Given the description of an element on the screen output the (x, y) to click on. 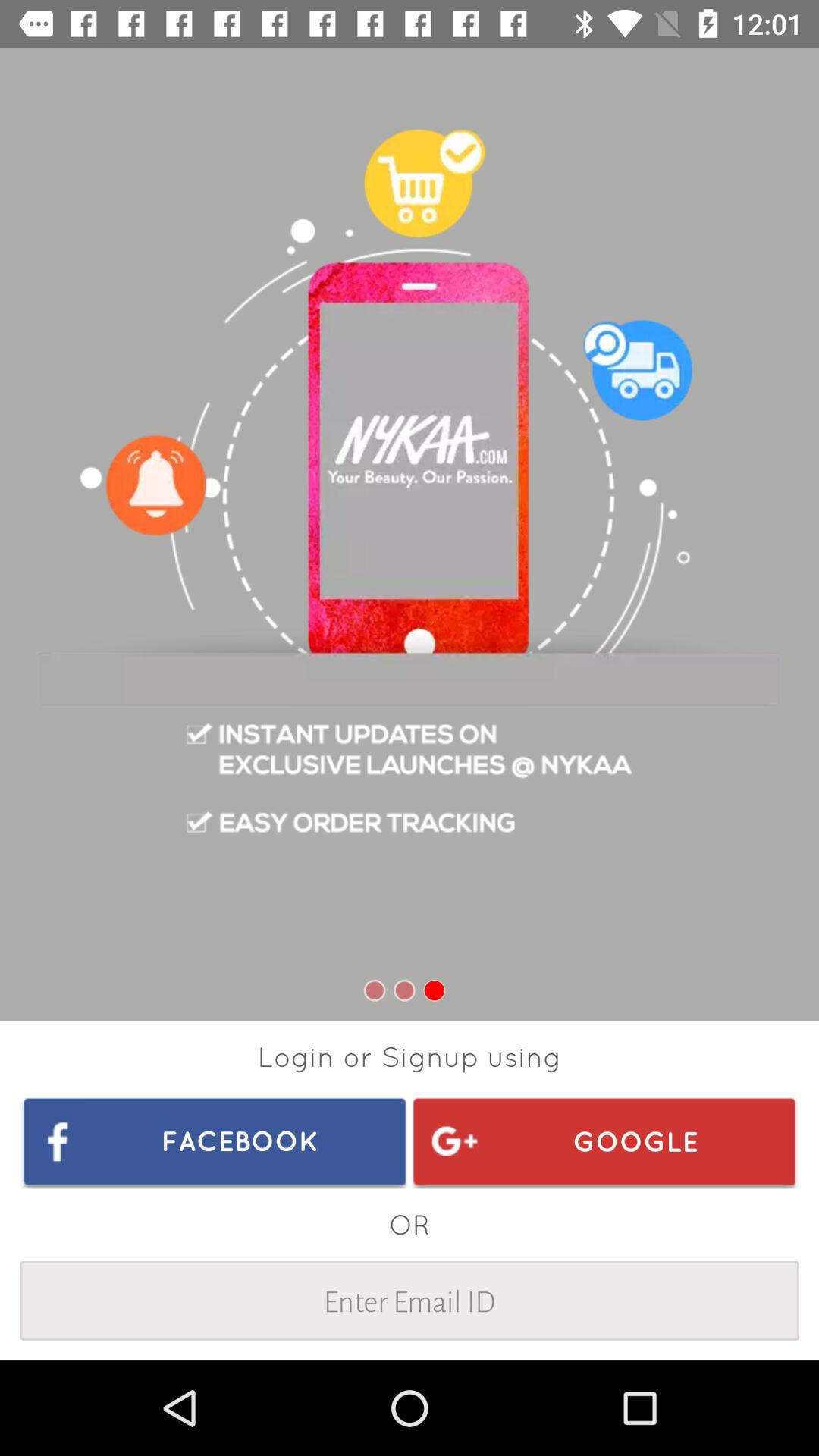
turn off item to the right of facebook (604, 1140)
